Given the description of an element on the screen output the (x, y) to click on. 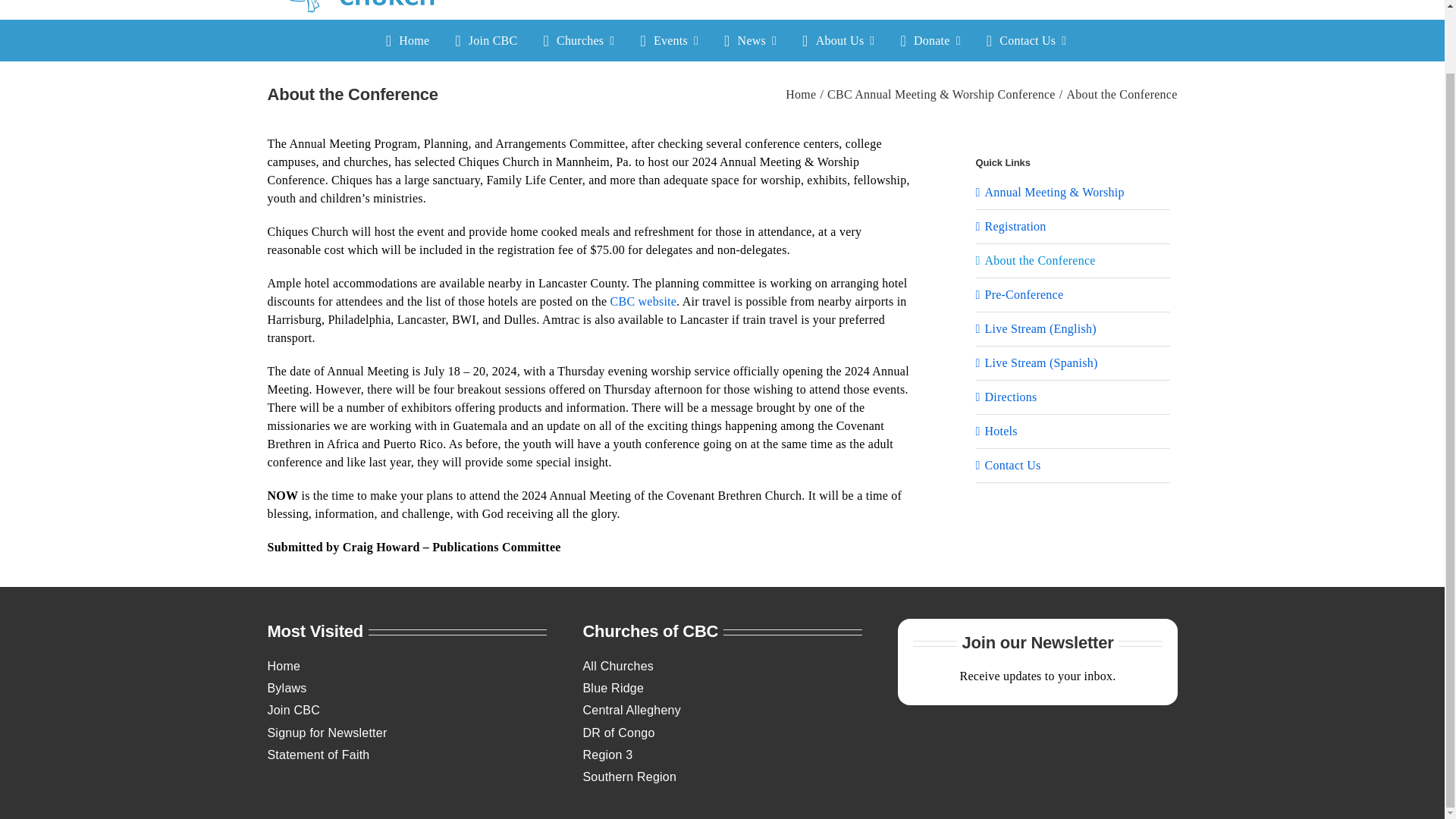
Home (403, 40)
Events (664, 40)
Join CBC (481, 40)
Churches (574, 40)
